Given the description of an element on the screen output the (x, y) to click on. 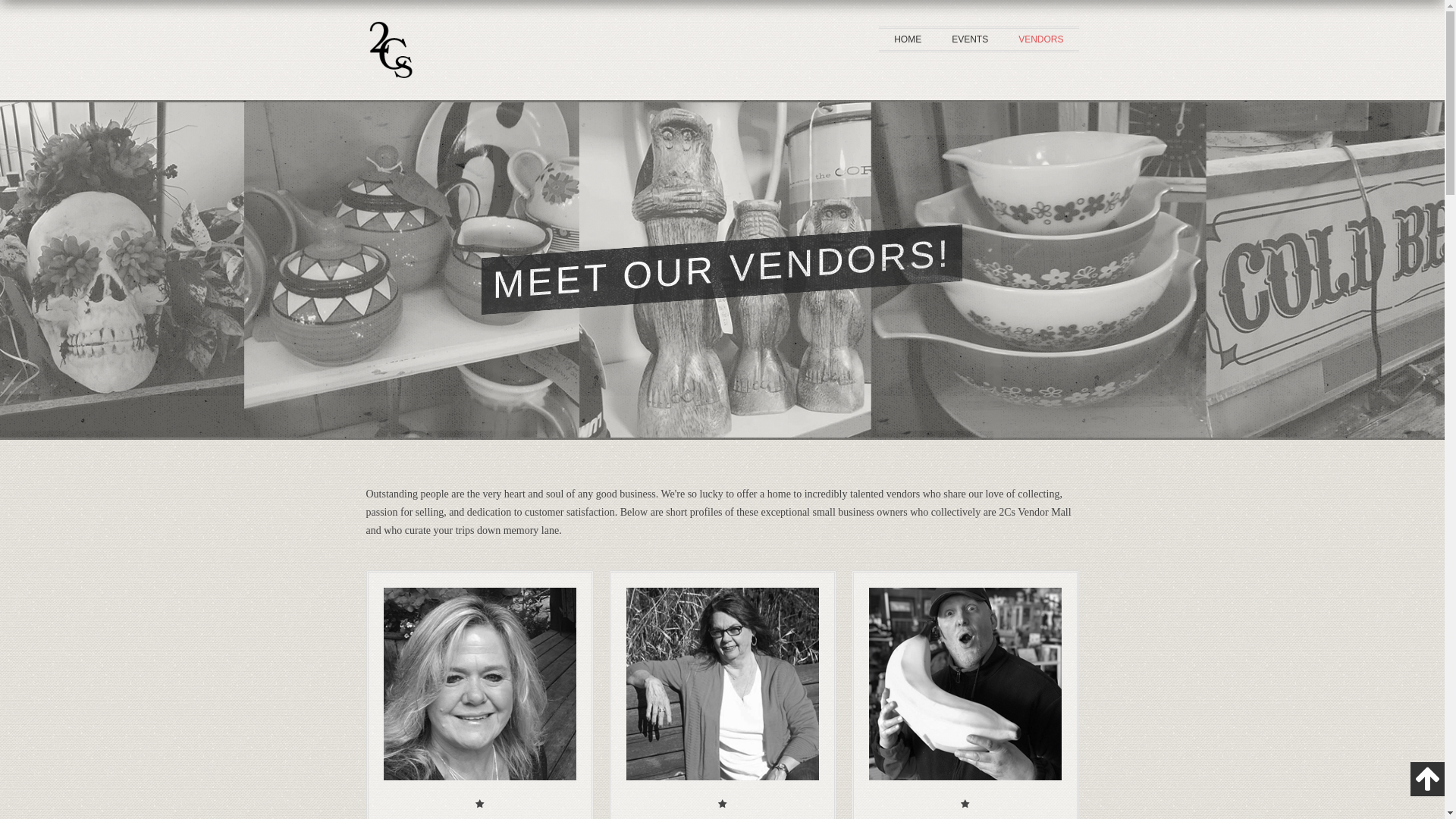
HOME Element type: text (907, 39)
VENDORS Element type: text (1040, 39)
2Cs Element type: hover (388, 90)
EVENTS Element type: text (969, 39)
